Given the description of an element on the screen output the (x, y) to click on. 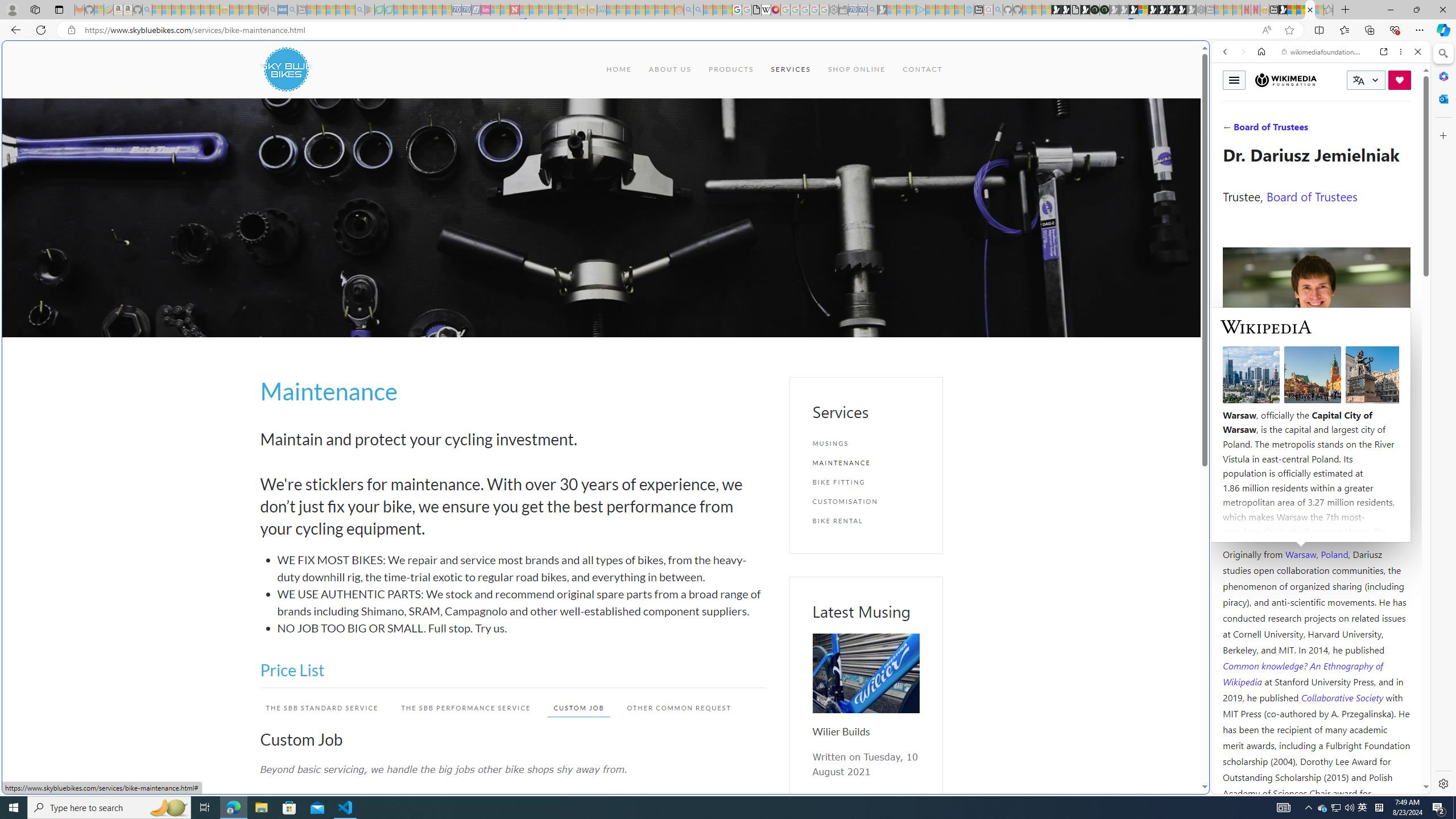
Class: wk-position-cover (866, 673)
MediaWiki (774, 9)
Class: i icon icon-translate language-switcher__icon (1358, 80)
Wikimedia Foundation (1285, 79)
THE SBB PERFORMANCE SERVICE (465, 707)
Search Filter, IMAGES (1262, 129)
Actions for this site (1370, 583)
Common knowledge? An Ethnography of Wikipedia (1302, 672)
